Given the description of an element on the screen output the (x, y) to click on. 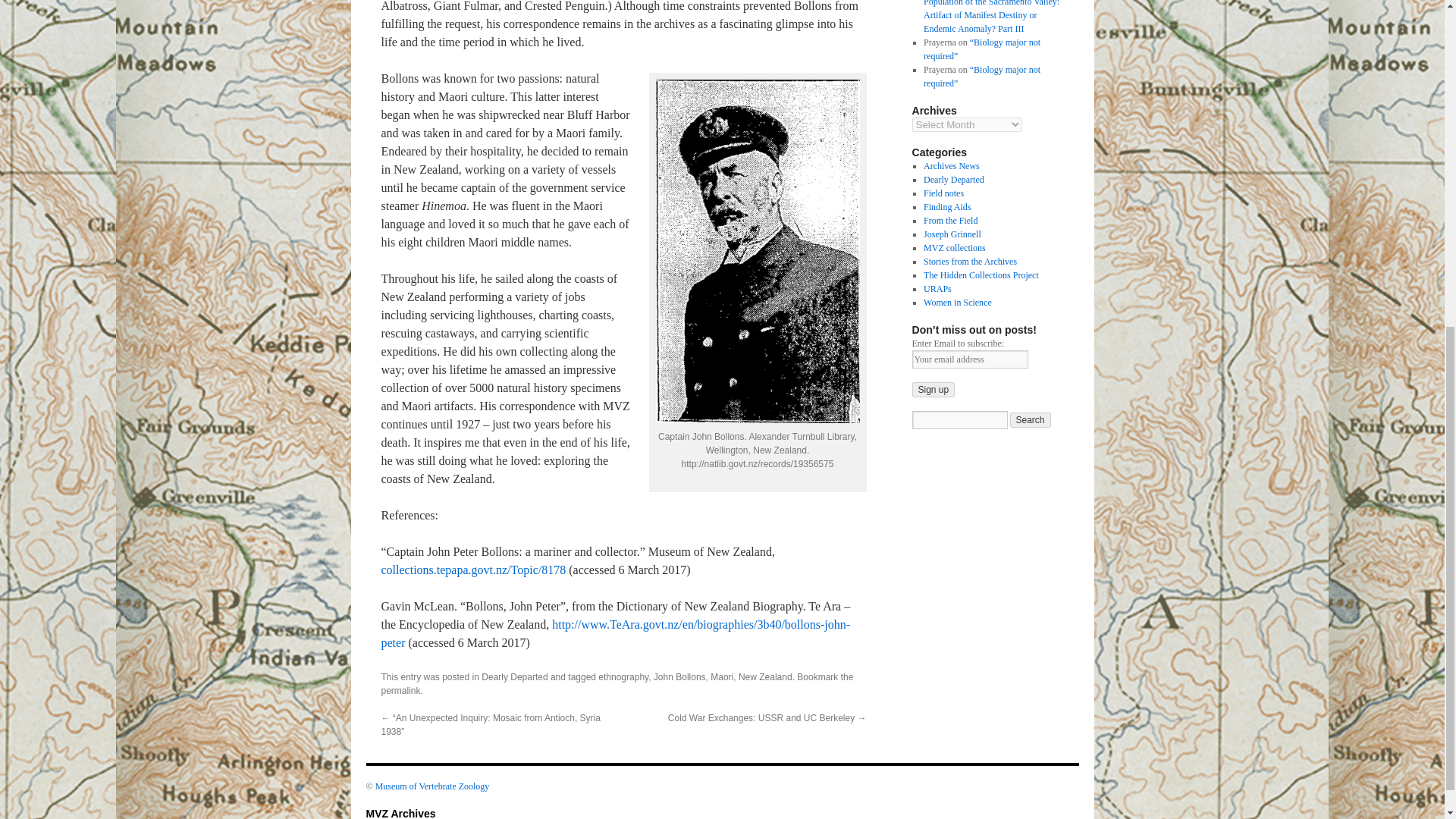
Dearly Departed (953, 179)
New Zealand (765, 676)
permalink (400, 690)
Permalink to Dearly Departed: Captain John Bollons (400, 690)
Search (1030, 419)
From the Field (949, 220)
Field notes (943, 193)
Maori (721, 676)
ethnography (622, 676)
John Bollons (679, 676)
Archives News (951, 165)
Sign up (933, 389)
Finding Aids (947, 206)
Dearly Departed (514, 676)
